Given the description of an element on the screen output the (x, y) to click on. 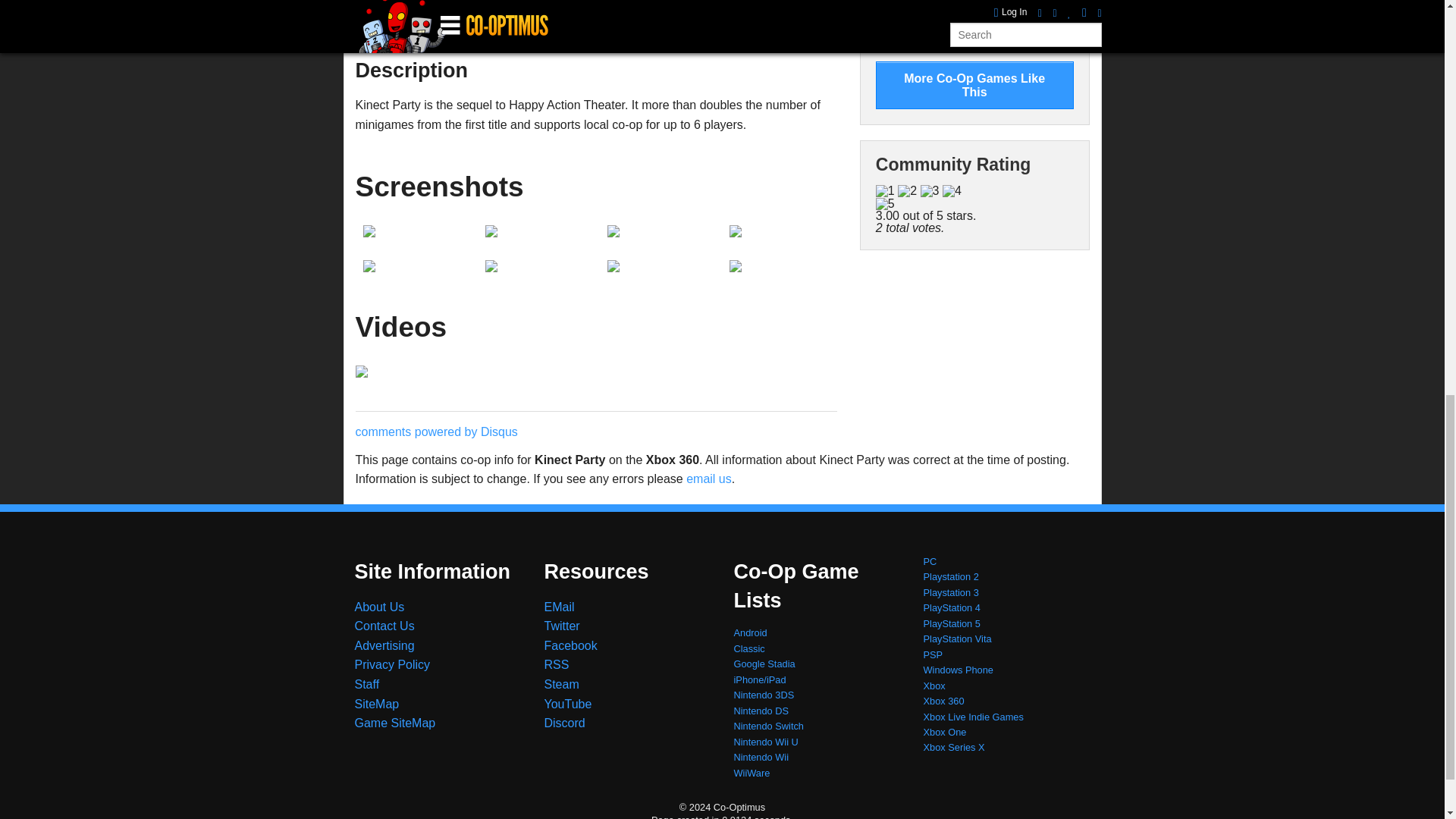
bad (885, 191)
Our current staff and bios. (367, 684)
poor (907, 191)
good (951, 191)
gorgeous (885, 203)
Join our Steam Group! (561, 684)
Advertising rates and traffic numbers. (384, 645)
regular (929, 191)
